Given the description of an element on the screen output the (x, y) to click on. 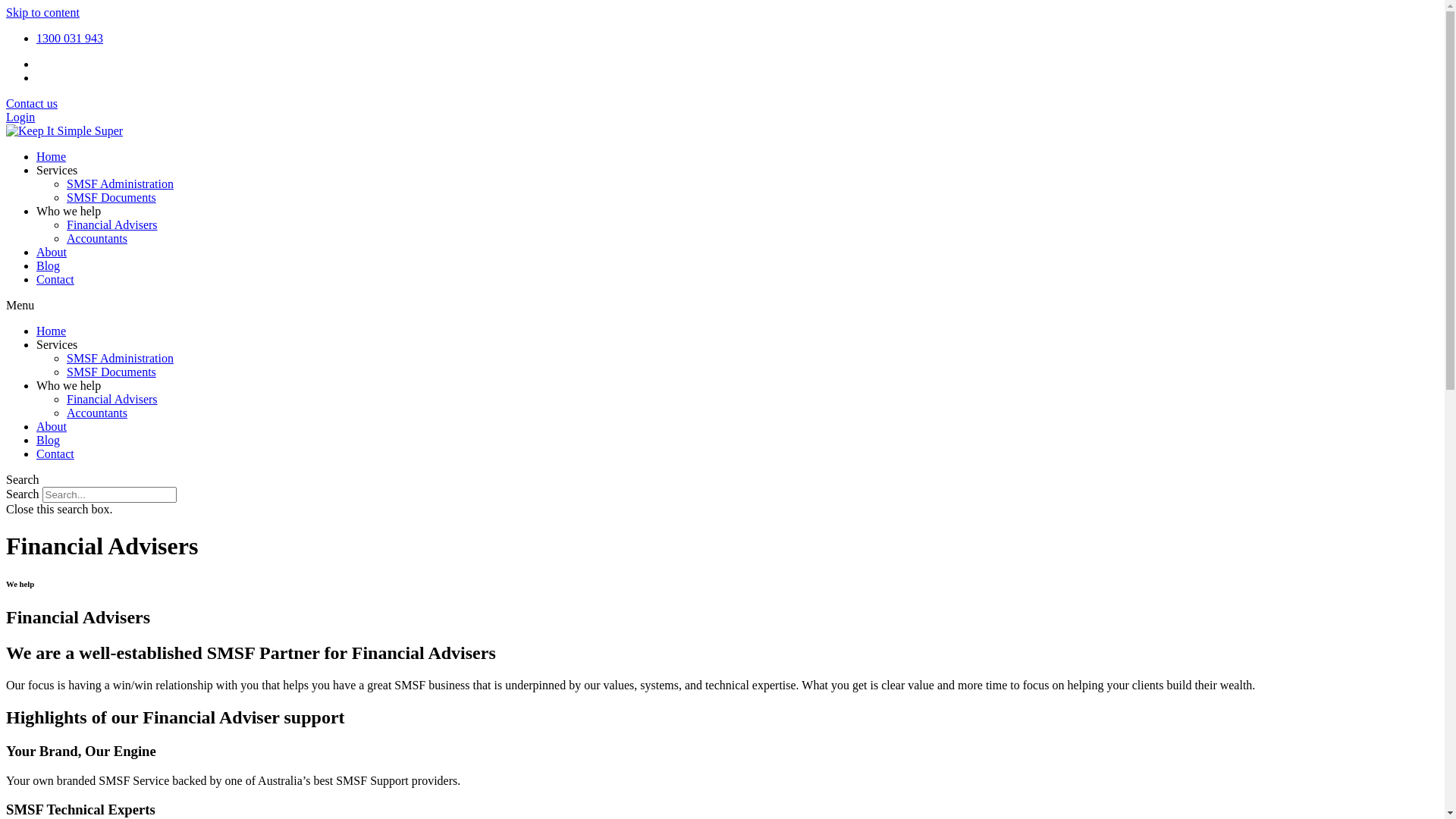
Login Element type: text (20, 116)
Accountants Element type: text (96, 412)
SMSF Administration Element type: text (119, 183)
Blog Element type: text (47, 265)
Who we help Element type: text (68, 210)
Services Element type: text (56, 169)
Contact us Element type: text (31, 103)
About Element type: text (51, 426)
Accountants Element type: text (96, 238)
Financial Advisers Element type: text (111, 398)
SMSF Documents Element type: text (111, 197)
Skip to content Element type: text (42, 12)
Contact Element type: text (55, 279)
Services Element type: text (56, 344)
Contact Element type: text (55, 453)
Home Element type: text (50, 156)
Home Element type: text (50, 330)
Who we help Element type: text (68, 385)
1300 031 943 Element type: text (69, 37)
Blog Element type: text (47, 439)
SMSF Documents Element type: text (111, 371)
About Element type: text (51, 251)
SMSF Administration Element type: text (119, 357)
Financial Advisers Element type: text (111, 224)
